Given the description of an element on the screen output the (x, y) to click on. 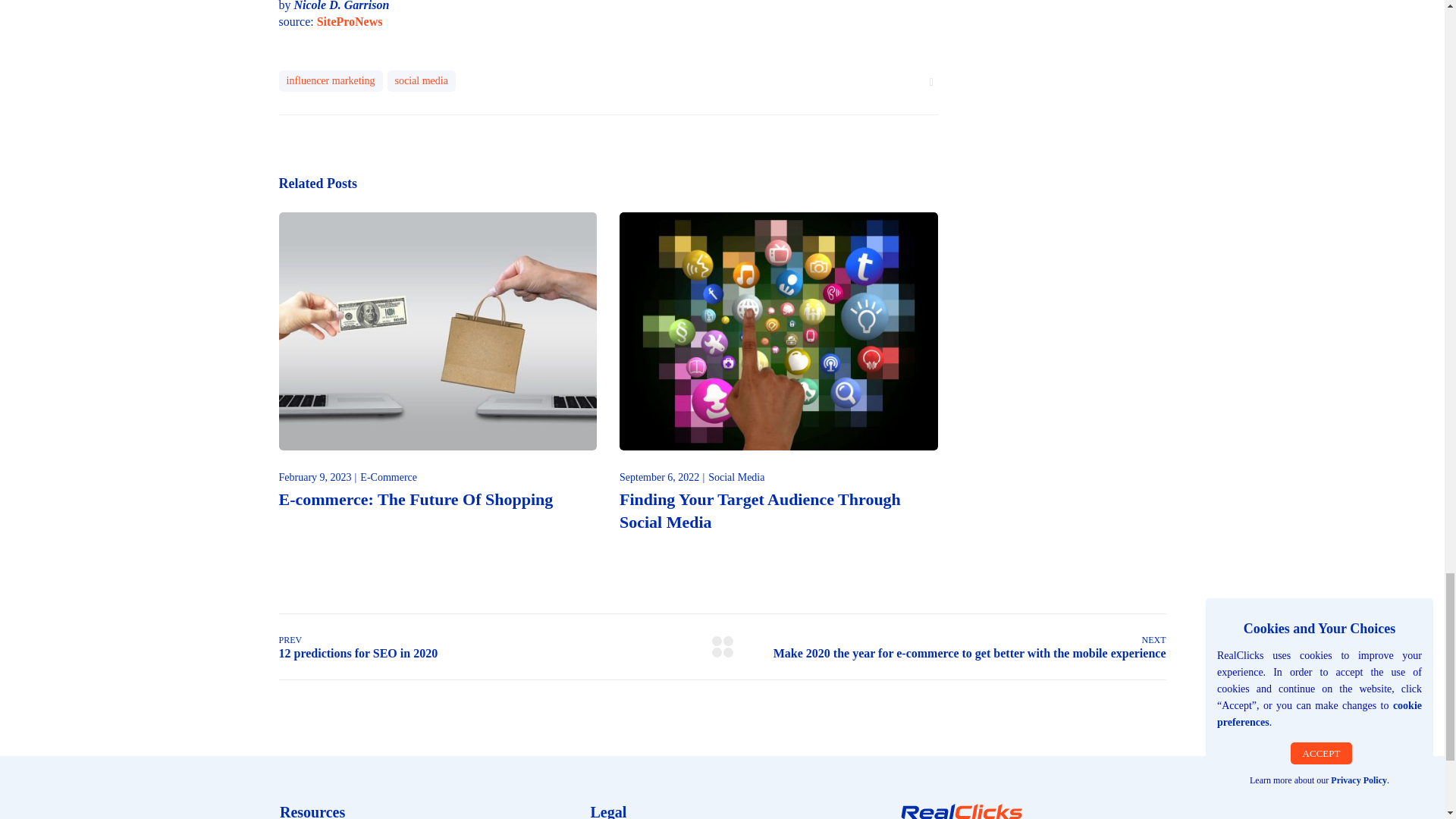
E-Commerce (387, 477)
Social Media (735, 477)
Finding Your Target Audience Through Social Media (760, 510)
SiteProNews (349, 21)
social media (421, 79)
influencer marketing (330, 79)
E-commerce: The Future Of Shopping (416, 498)
